Given the description of an element on the screen output the (x, y) to click on. 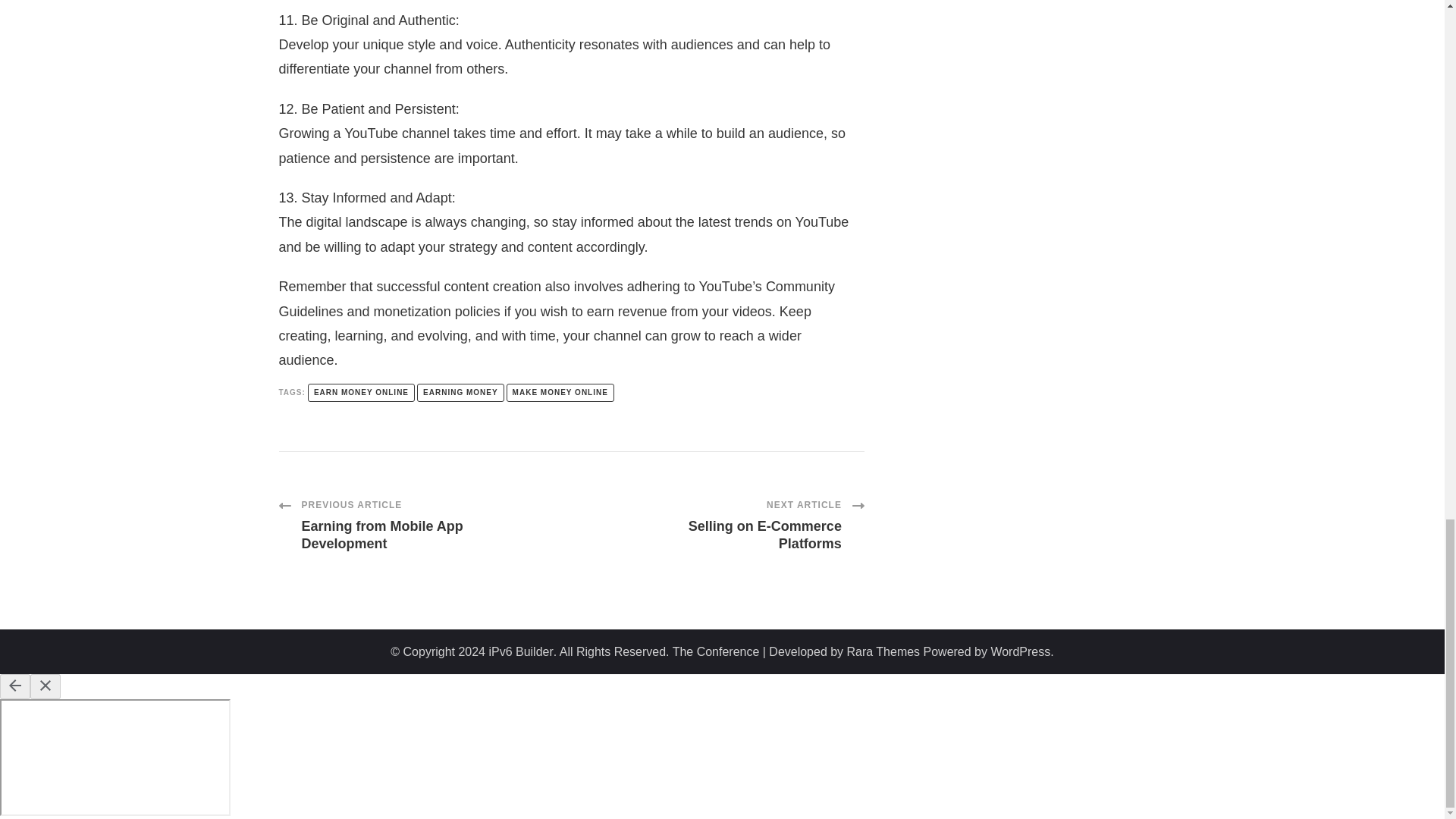
WordPress (1019, 651)
Rara Themes (883, 651)
EARNING MONEY (459, 393)
MAKE MONEY ONLINE (560, 393)
iPv6 Builder (425, 524)
EARN MONEY ONLINE (520, 651)
